Given the description of an element on the screen output the (x, y) to click on. 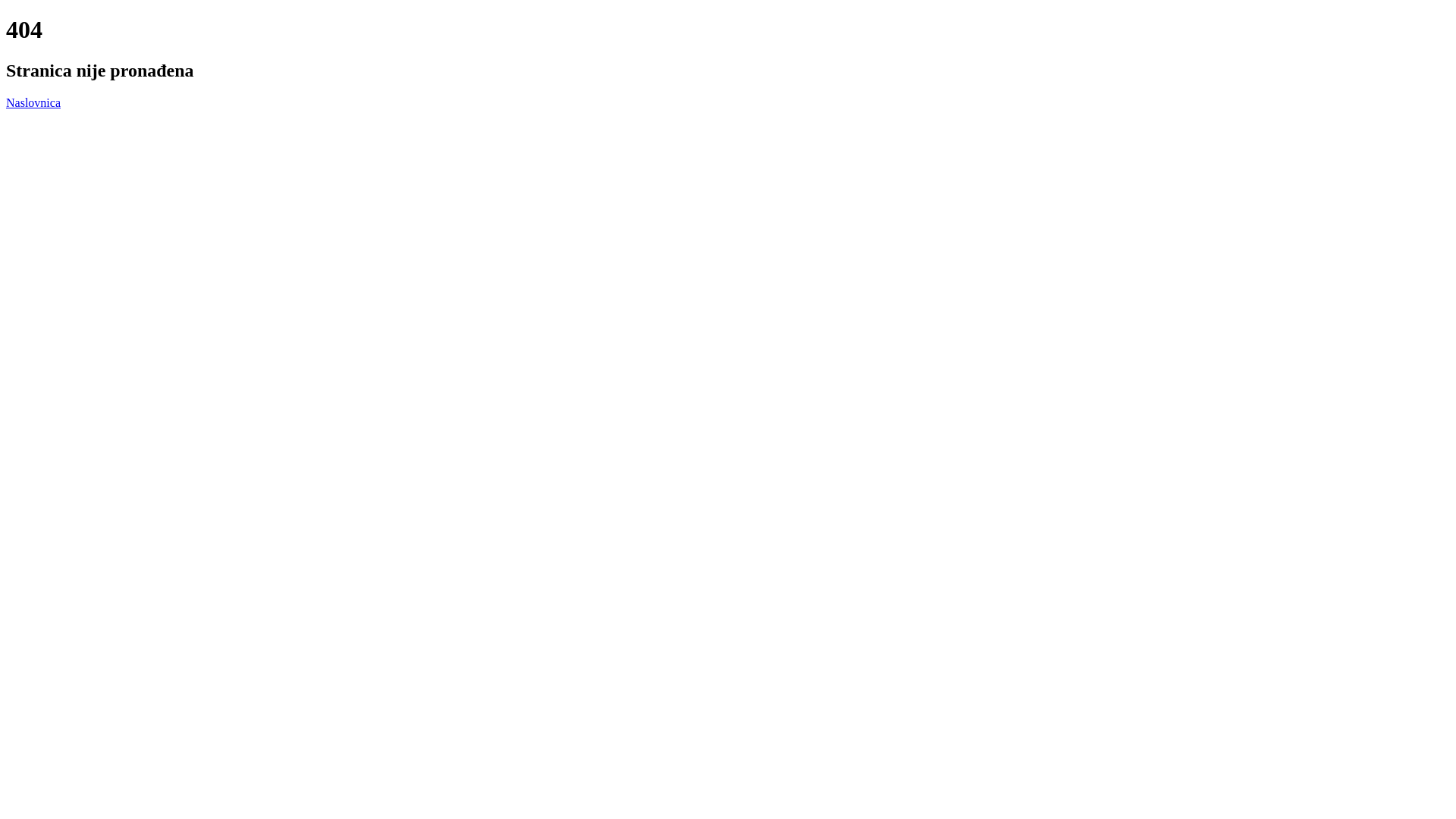
Naslovnica Element type: text (33, 102)
